Given the description of an element on the screen output the (x, y) to click on. 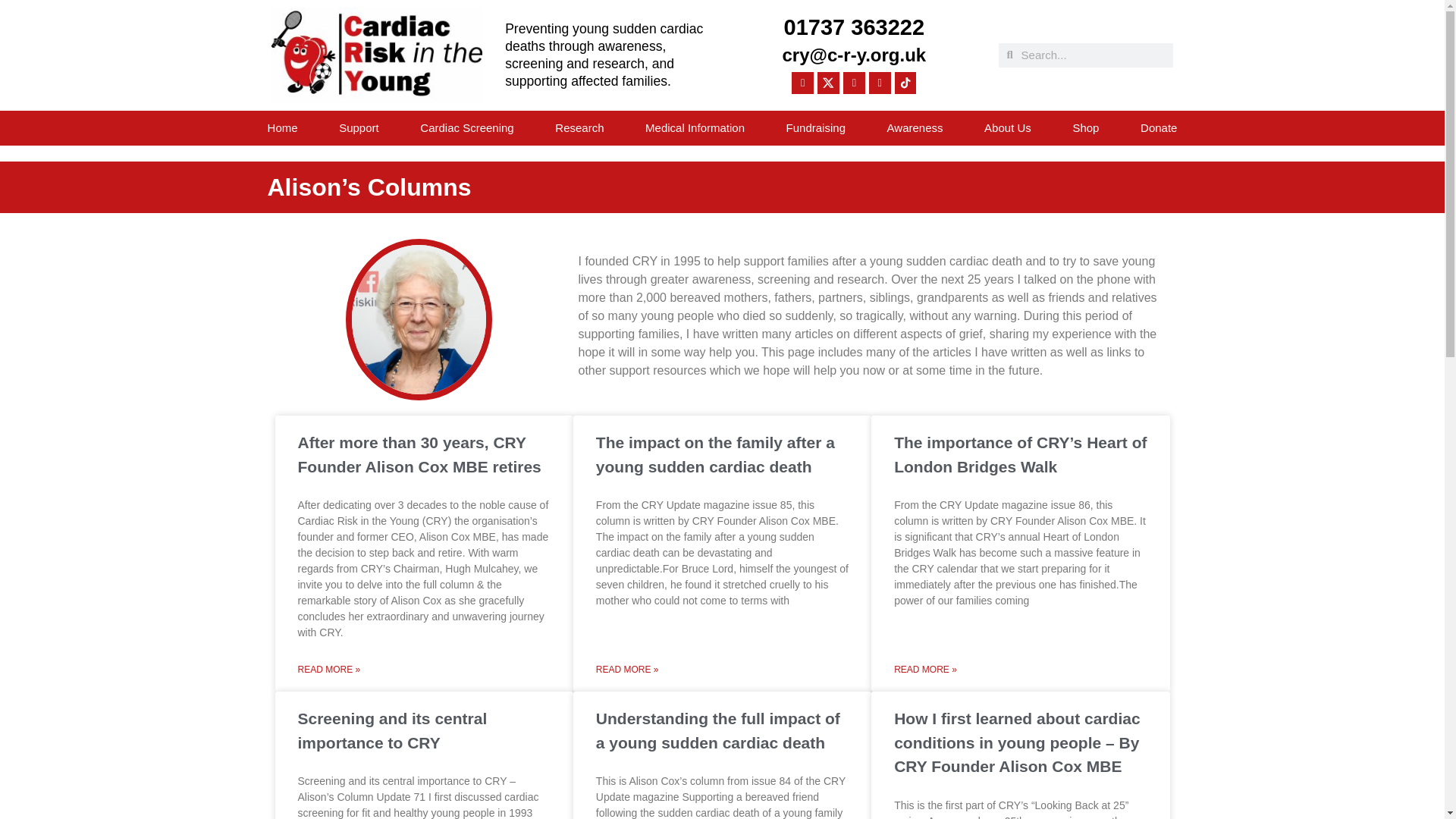
Cardiac Screening (466, 127)
Research (579, 127)
Fundraising (815, 127)
Support (358, 127)
01737 363222 (854, 27)
Medical Information (694, 127)
Home (282, 127)
